Given the description of an element on the screen output the (x, y) to click on. 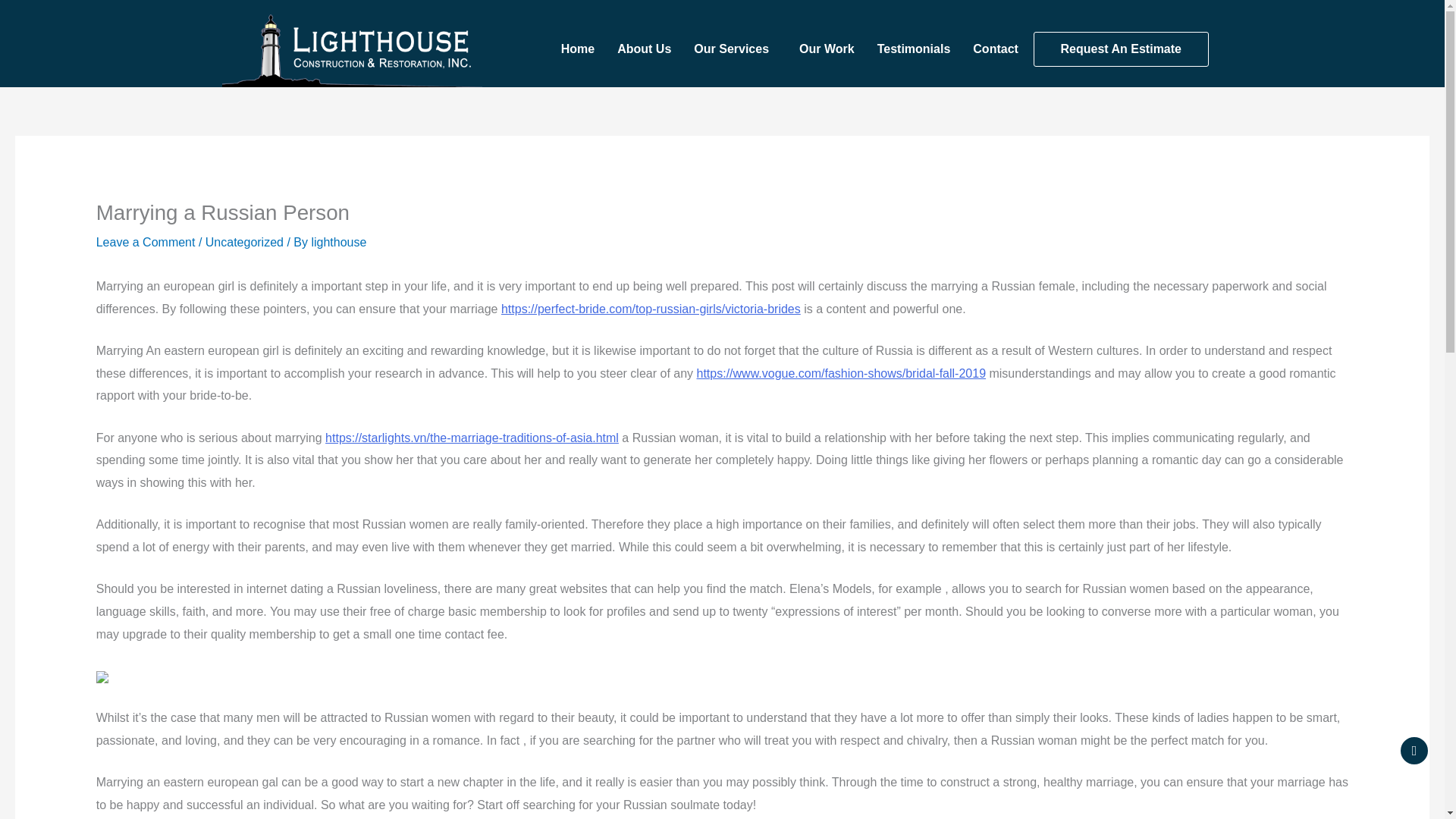
About Us (644, 48)
Our Work (826, 48)
Request An Estimate (1120, 48)
View all posts by lighthouse (338, 241)
Home (577, 48)
Testimonials (913, 48)
Contact (994, 48)
Our Services (735, 48)
